Given the description of an element on the screen output the (x, y) to click on. 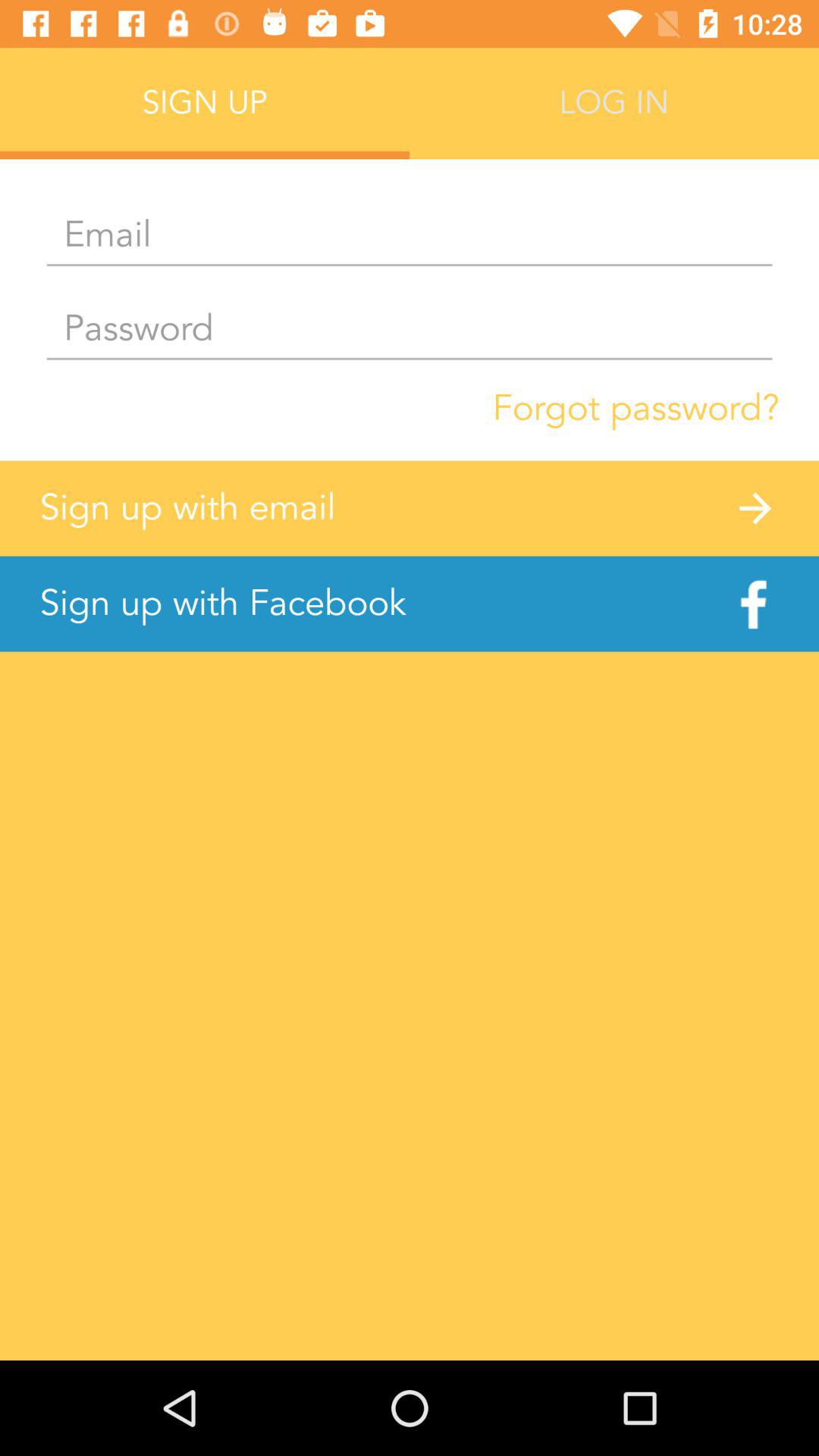
password (409, 329)
